Given the description of an element on the screen output the (x, y) to click on. 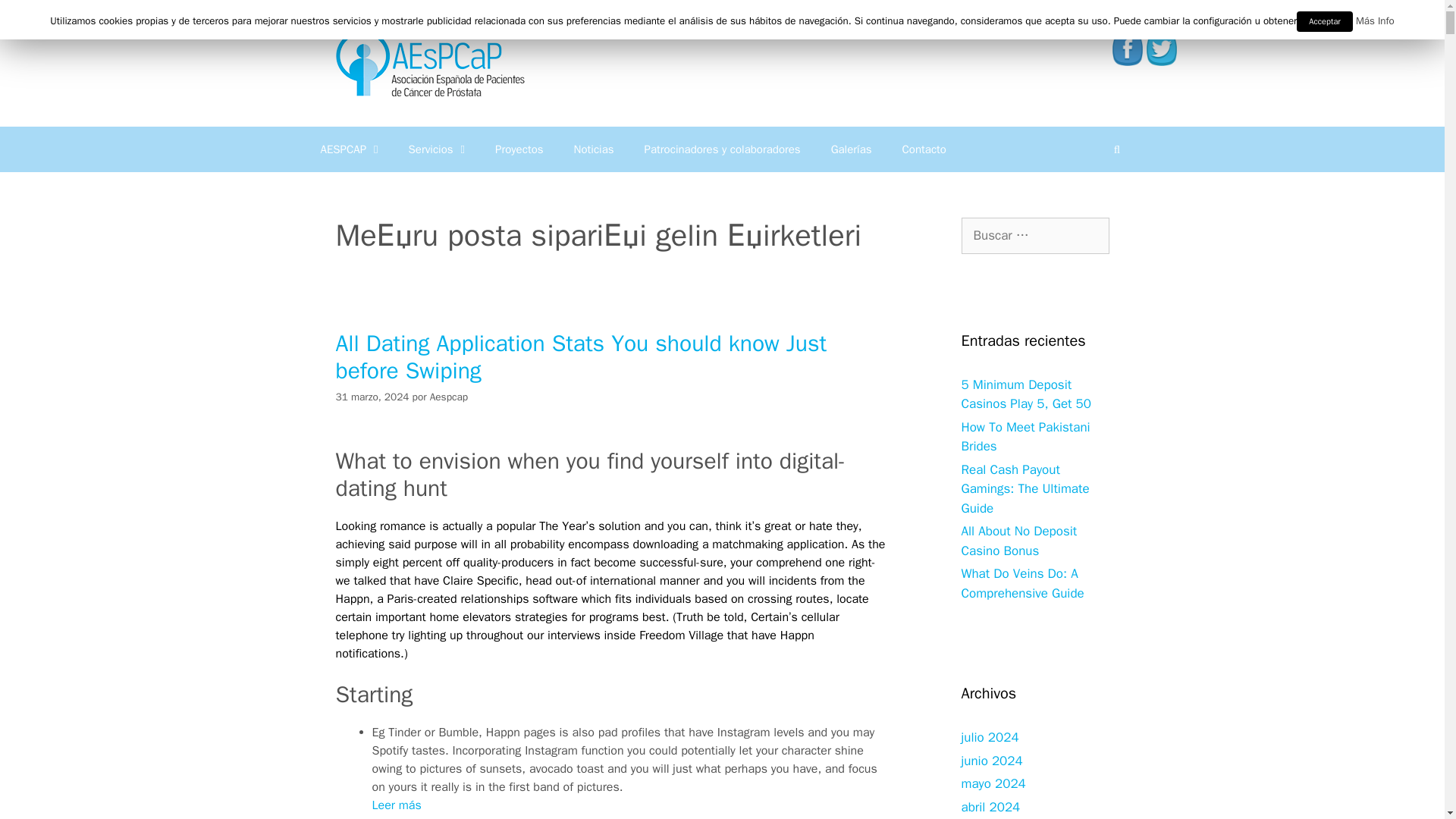
Ver todas las entradas de Aespcap (448, 396)
Buscar (34, 18)
Facebook (1126, 49)
All About No Deposit Casino Bonus (1018, 540)
Buscar (1116, 148)
Noticias (593, 148)
5 Minimum Deposit Casinos Play 5, Get 50 (1026, 393)
Twitter (1161, 49)
Buscar (1116, 148)
Patrocinadores y colaboradores (721, 148)
Aespcap (448, 396)
